Given the description of an element on the screen output the (x, y) to click on. 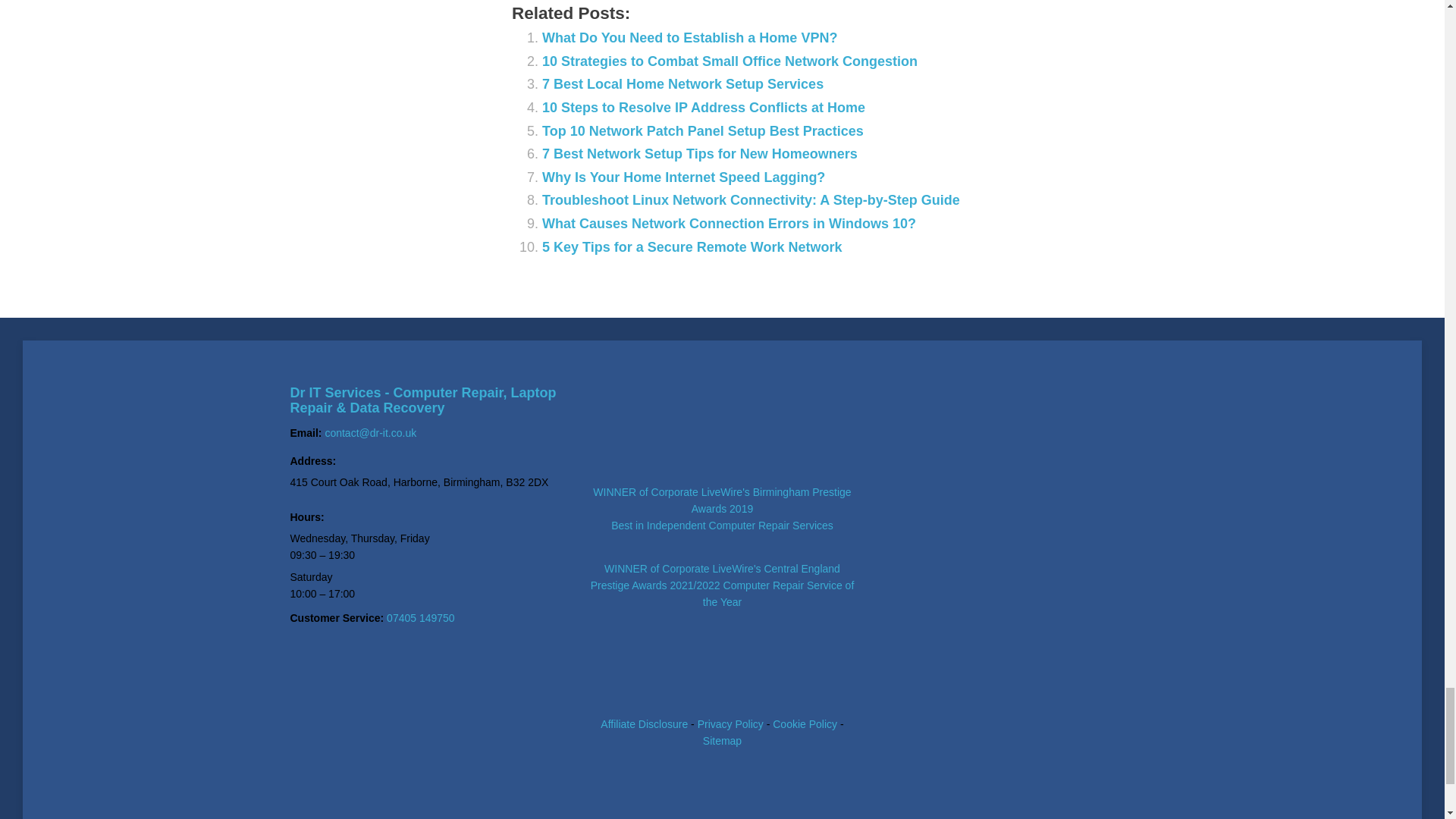
10 Steps to Resolve IP Address Conflicts at Home (702, 107)
7 Best Network Setup Tips for New Homeowners (699, 153)
Why Is Your Home Internet Speed Lagging? (683, 177)
What Do You Need to Establish a Home VPN? (689, 37)
7 Best Local Home Network Setup Services (682, 83)
Top 10 Network Patch Panel Setup Best Practices (702, 130)
10 Strategies to Combat Small Office Network Congestion (729, 61)
What Causes Network Connection Errors in Windows 10? (728, 223)
